Given the description of an element on the screen output the (x, y) to click on. 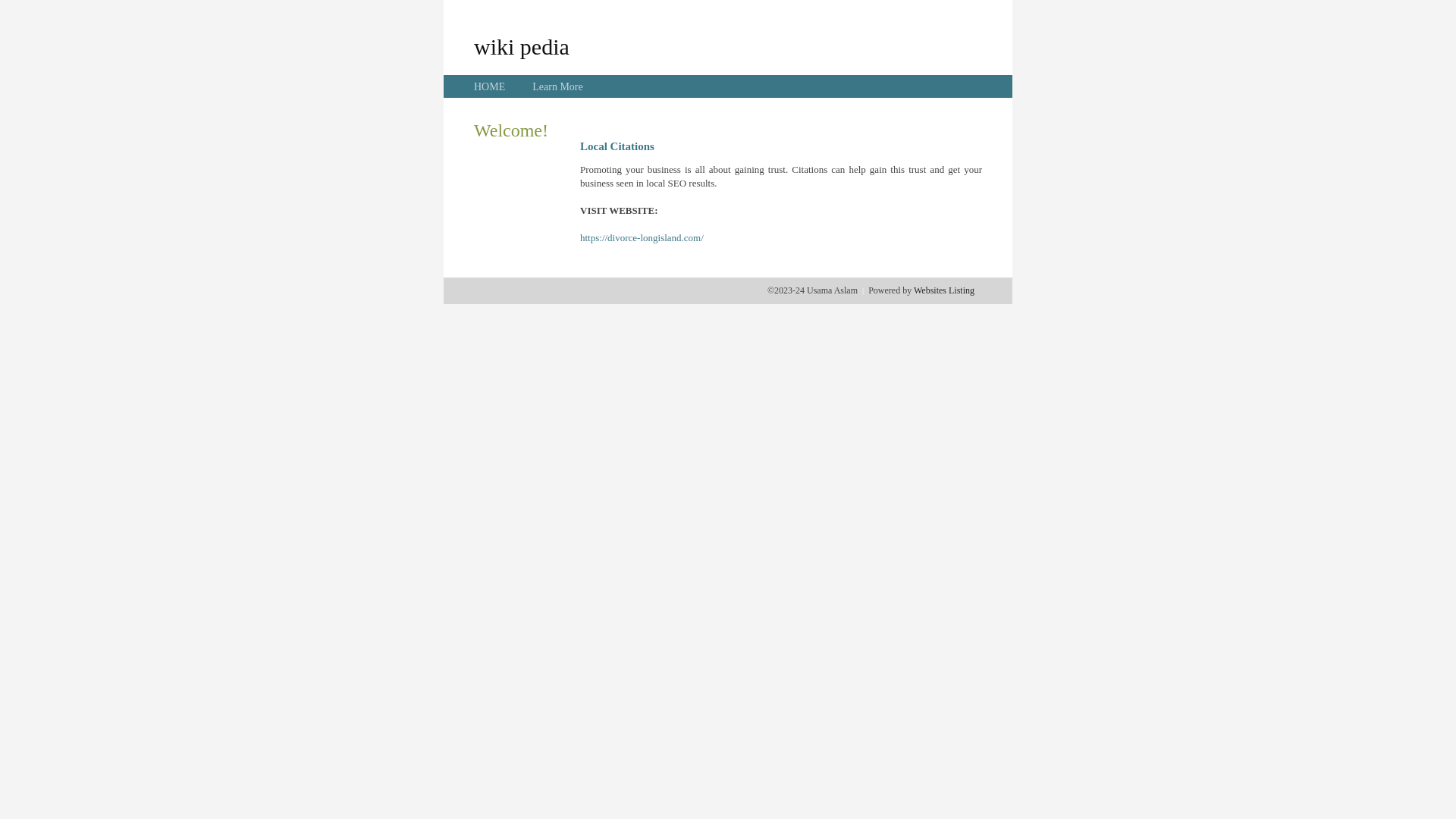
https://divorce-longisland.com/ Element type: text (641, 237)
wiki pedia Element type: text (521, 46)
Learn More Element type: text (557, 86)
Websites Listing Element type: text (943, 290)
HOME Element type: text (489, 86)
